Given the description of an element on the screen output the (x, y) to click on. 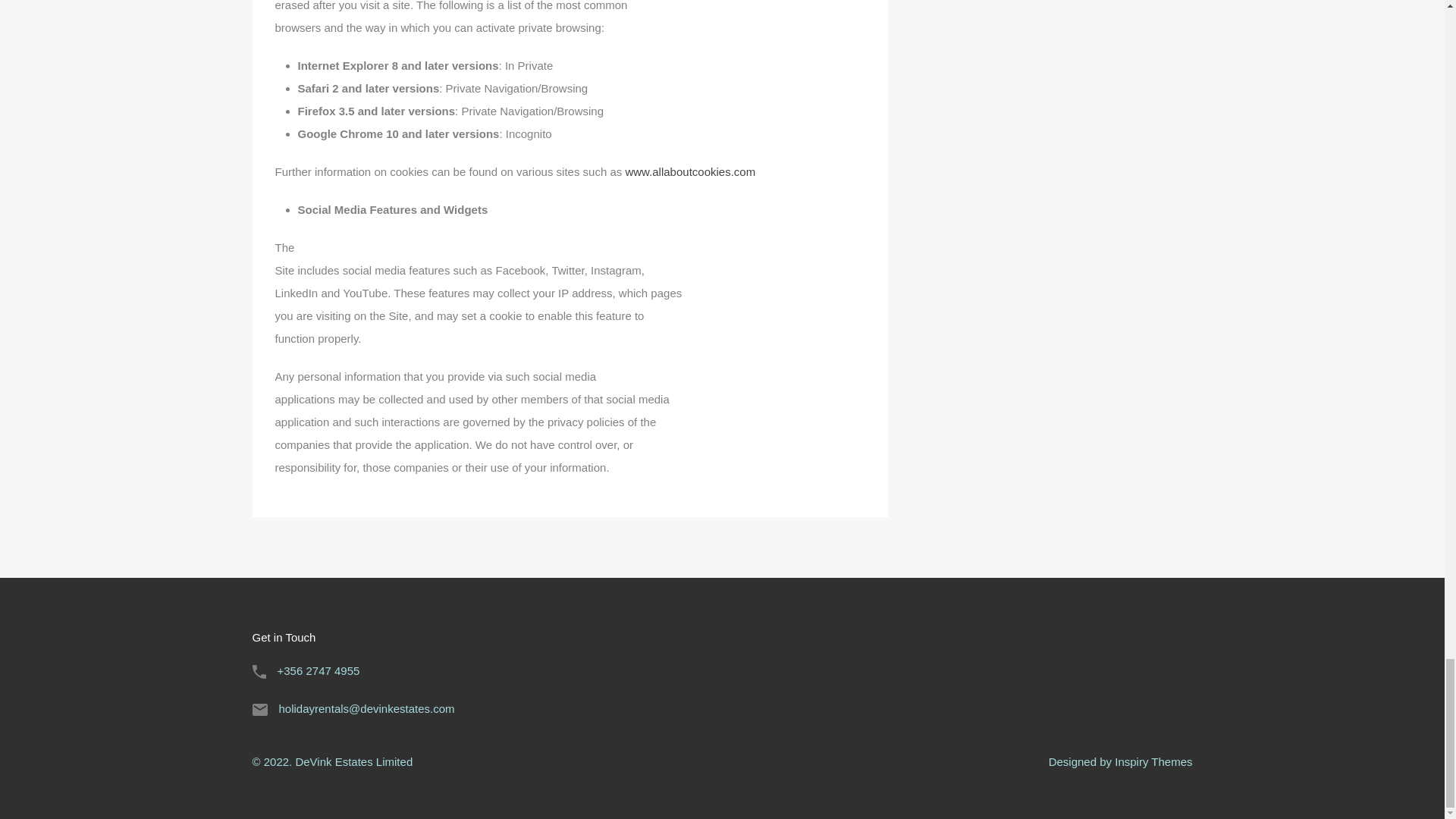
www.allaboutcookies.com (689, 171)
Inspiry Themes (1153, 761)
